Given the description of an element on the screen output the (x, y) to click on. 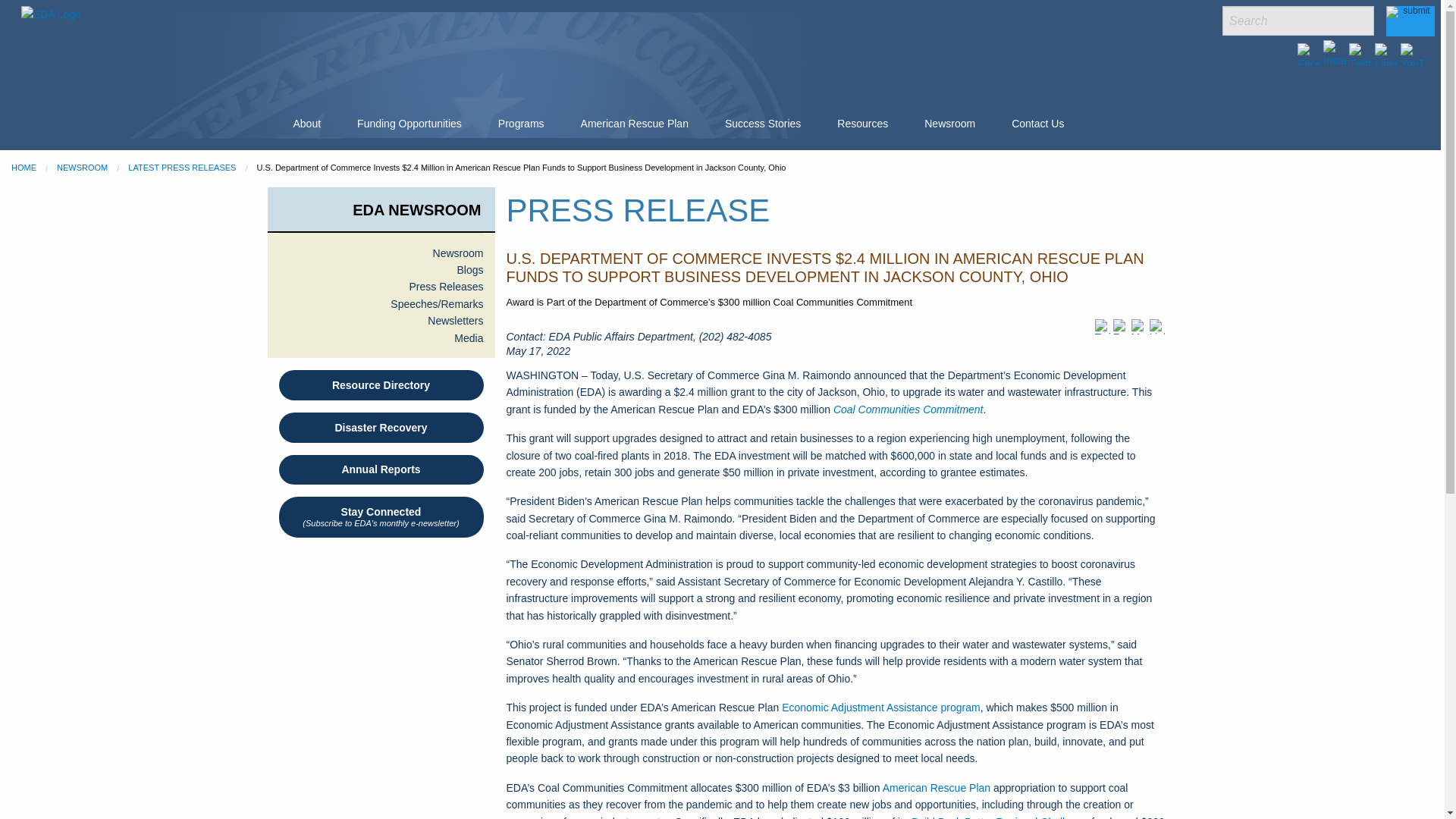
American Rescue Plan (634, 123)
Funding Opportunities (409, 123)
Funding Opportunities (408, 123)
American Rescue Plan (634, 123)
About (306, 123)
About (307, 123)
Programs (521, 123)
Programs (521, 123)
